Given the description of an element on the screen output the (x, y) to click on. 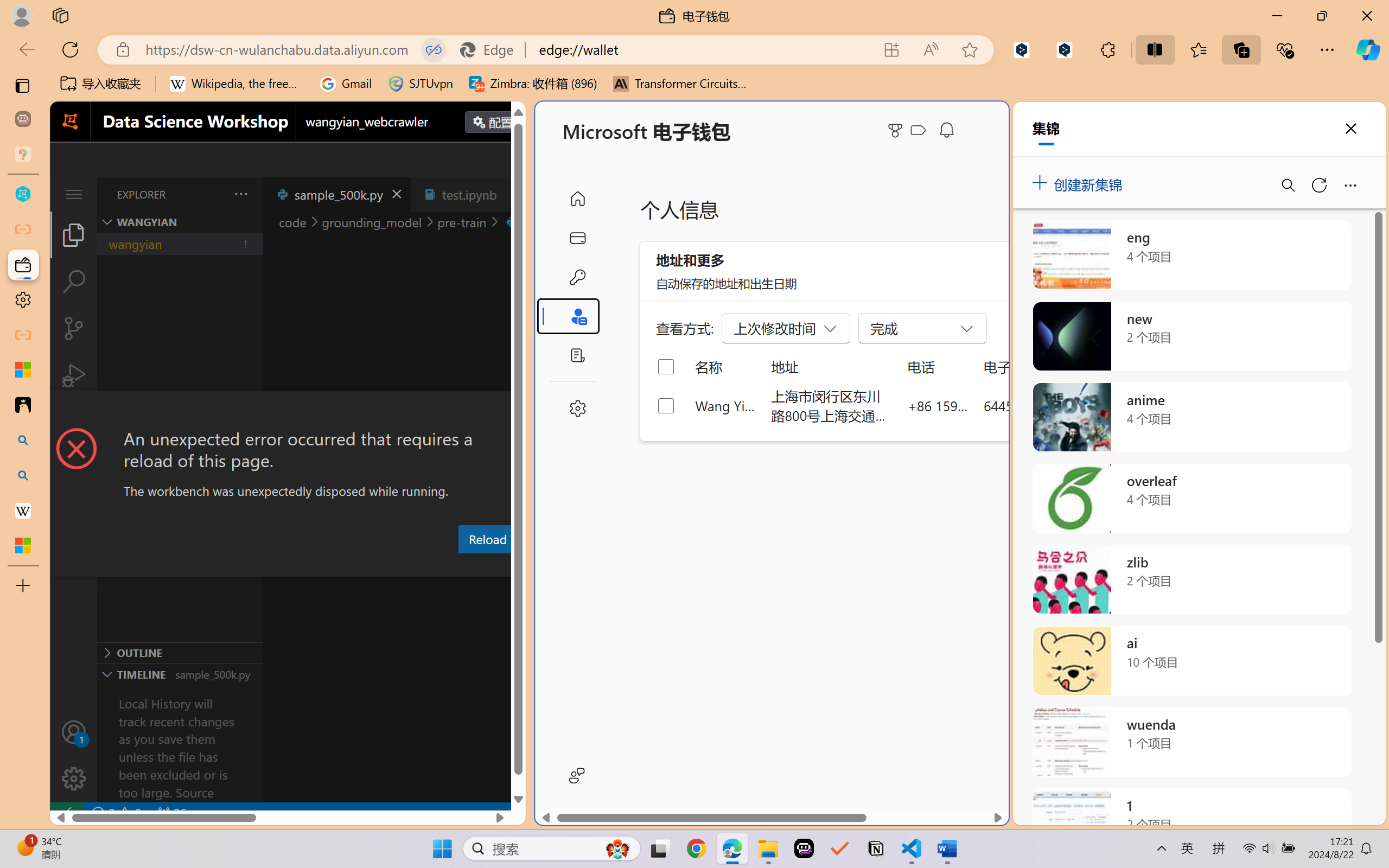
No Problems (115, 812)
Wikipedia, the free encyclopedia (236, 83)
Transformer Circuits Thread (680, 83)
Output (Ctrl+Shift+U) (377, 565)
Explorer Section: wangyian (179, 221)
Manage (73, 755)
